Given the description of an element on the screen output the (x, y) to click on. 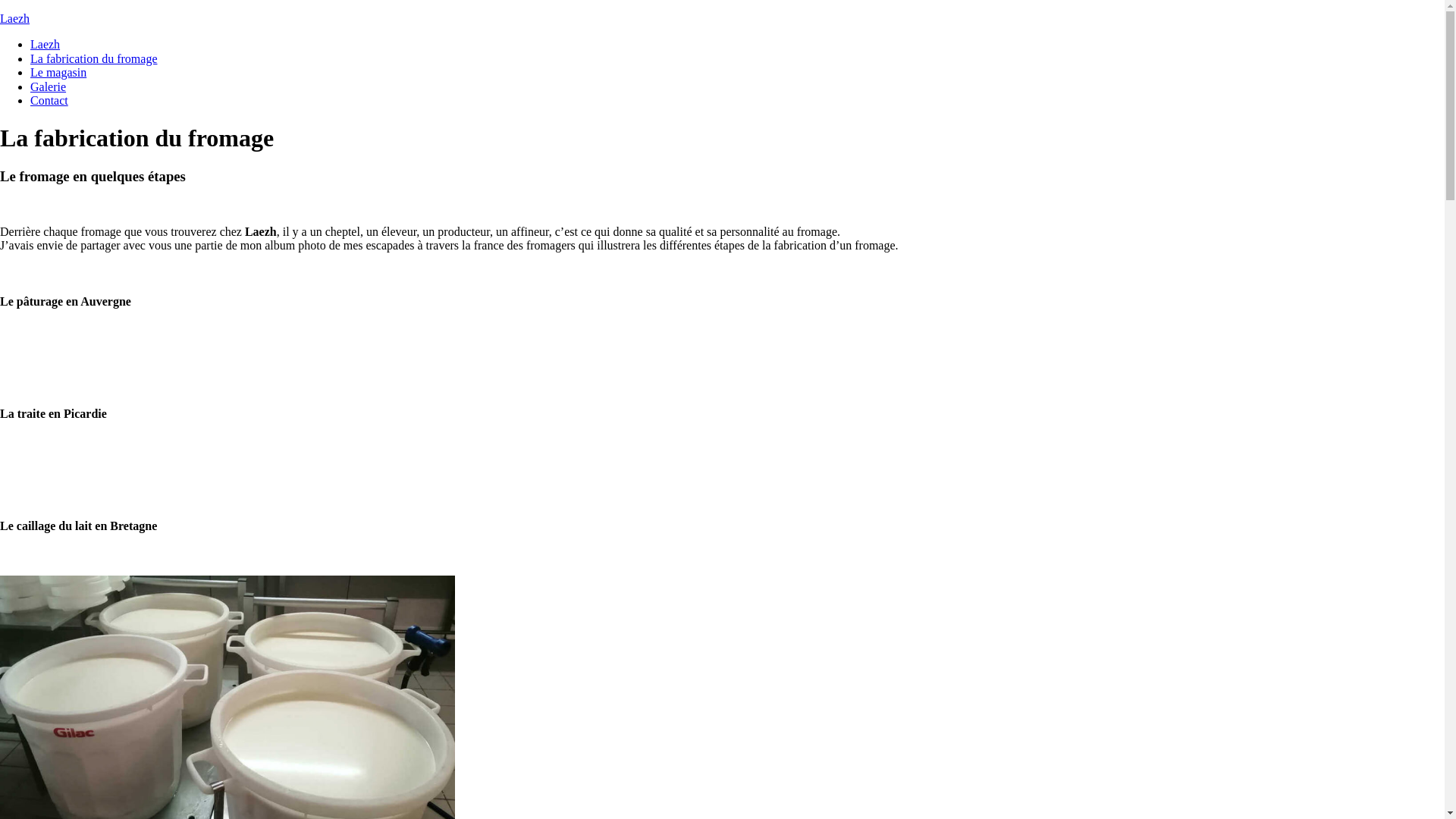
Galerie Element type: text (47, 86)
Contact Element type: text (49, 100)
La fabrication du fromage Element type: text (93, 58)
Laezh Element type: text (14, 18)
Le magasin Element type: text (58, 71)
Laezh Element type: text (44, 43)
